Given the description of an element on the screen output the (x, y) to click on. 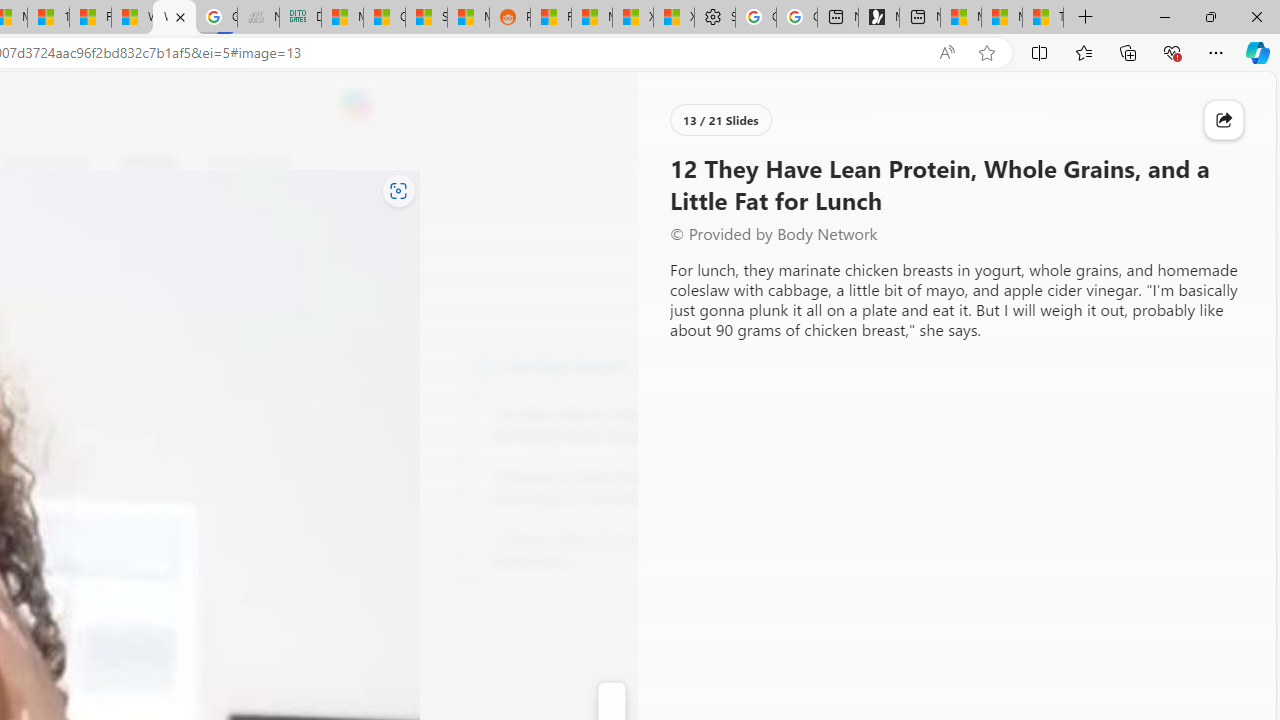
These 3 Stocks Pay You More Than 5% to Own Them (1042, 17)
Class: at-item immersive (1224, 120)
Visit Body Network website (733, 364)
8 Reasons to Drink Kombucha, According to a Nutritionist (603, 488)
Fitness - MSN (90, 17)
